Given the description of an element on the screen output the (x, y) to click on. 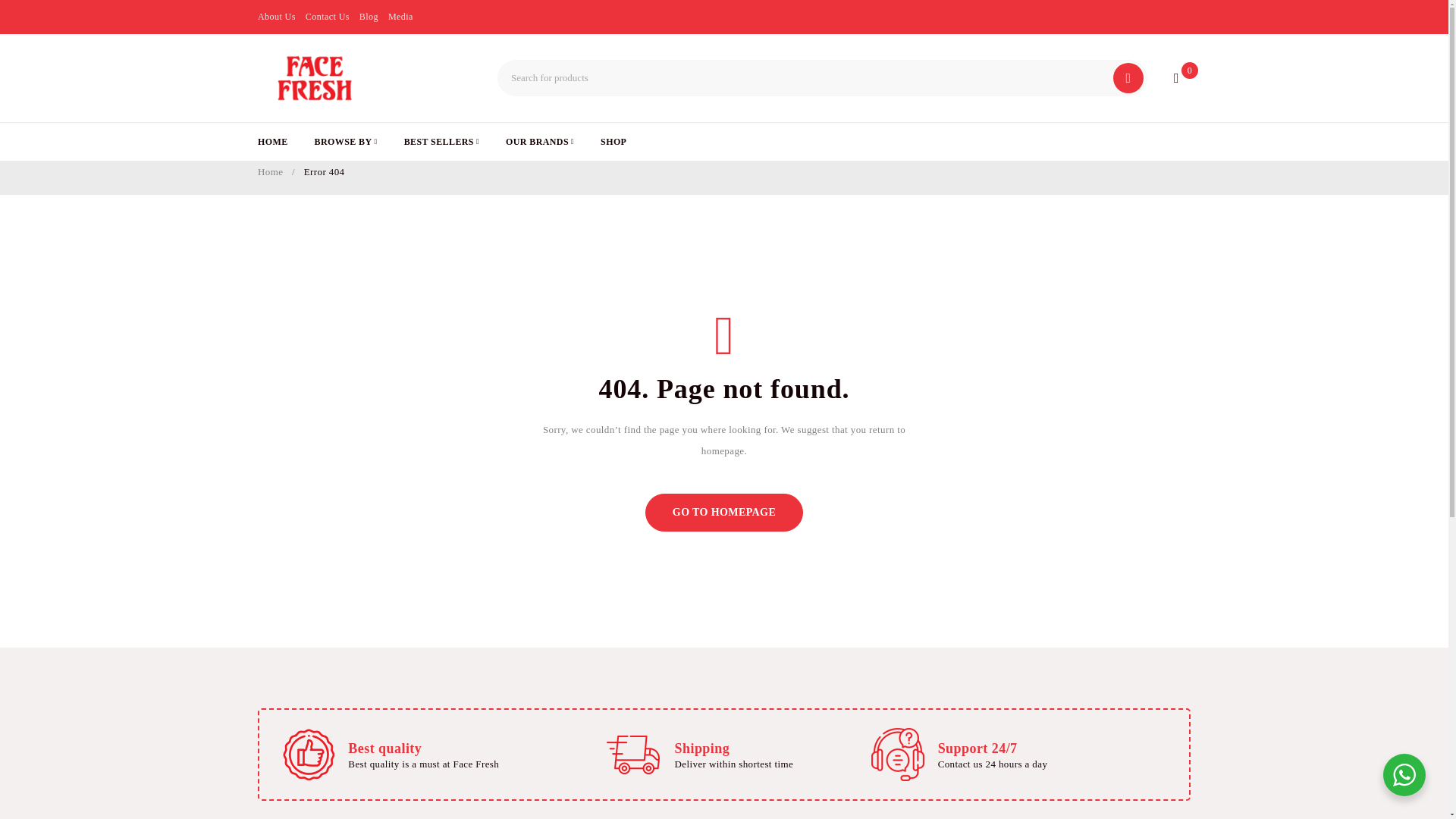
Face Fresh (314, 78)
HOME (272, 141)
Contact Us (327, 16)
Search (1127, 78)
Search (1127, 78)
Media (400, 16)
Blog (368, 16)
About Us (276, 16)
BROWSE BY (345, 141)
BEST SELLERS (441, 141)
Search (1127, 78)
